Given the description of an element on the screen output the (x, y) to click on. 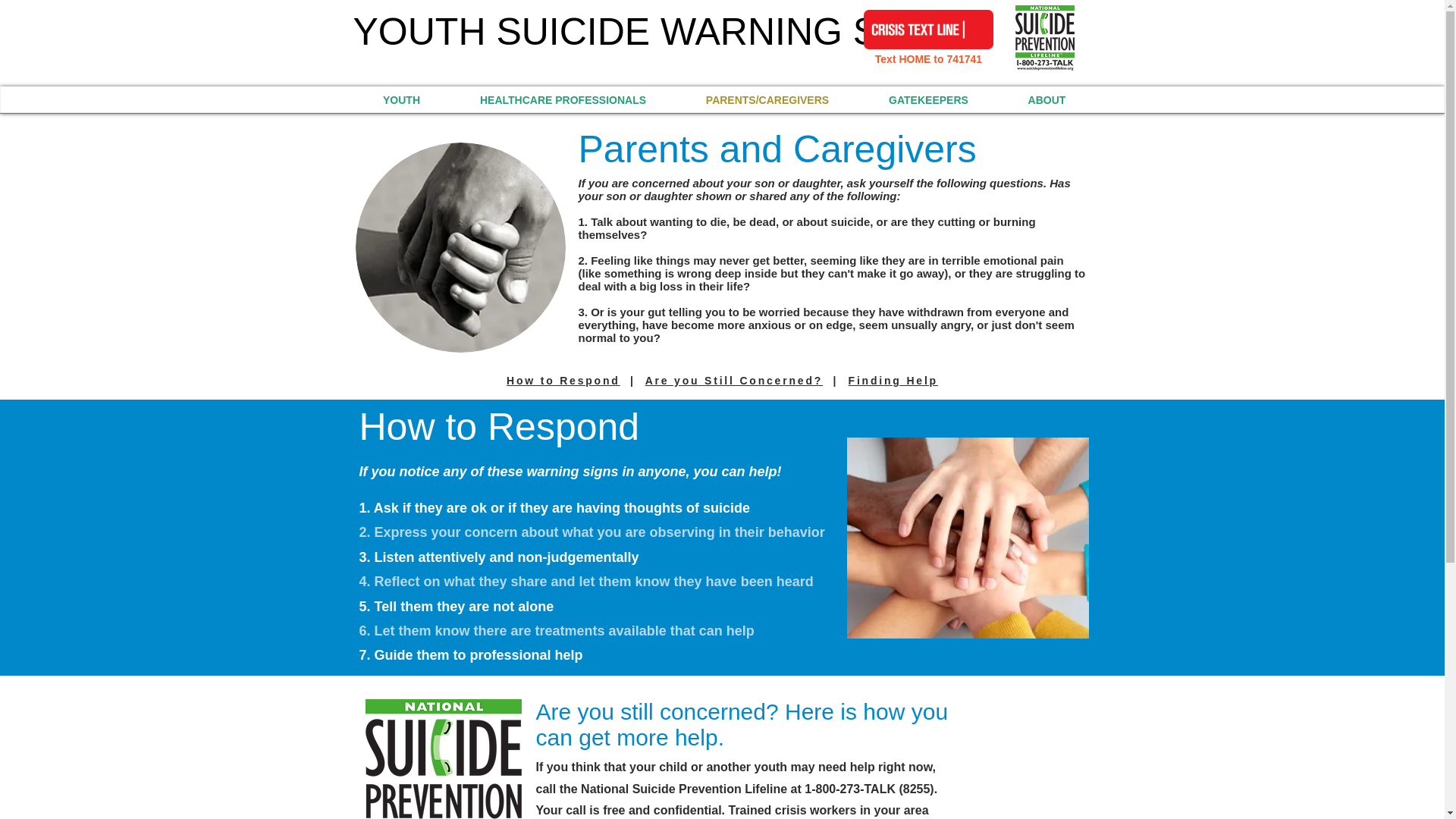
YOUTH (401, 99)
Finding Help (892, 380)
How to Respond (563, 380)
Are you Still Concerned? (733, 380)
YOUTH SUICIDE WARNING SIGNS (662, 31)
HEALTHCARE PROFESSIONALS (563, 99)
GATEKEEPERS (928, 99)
ABOUT (1045, 99)
